Given the description of an element on the screen output the (x, y) to click on. 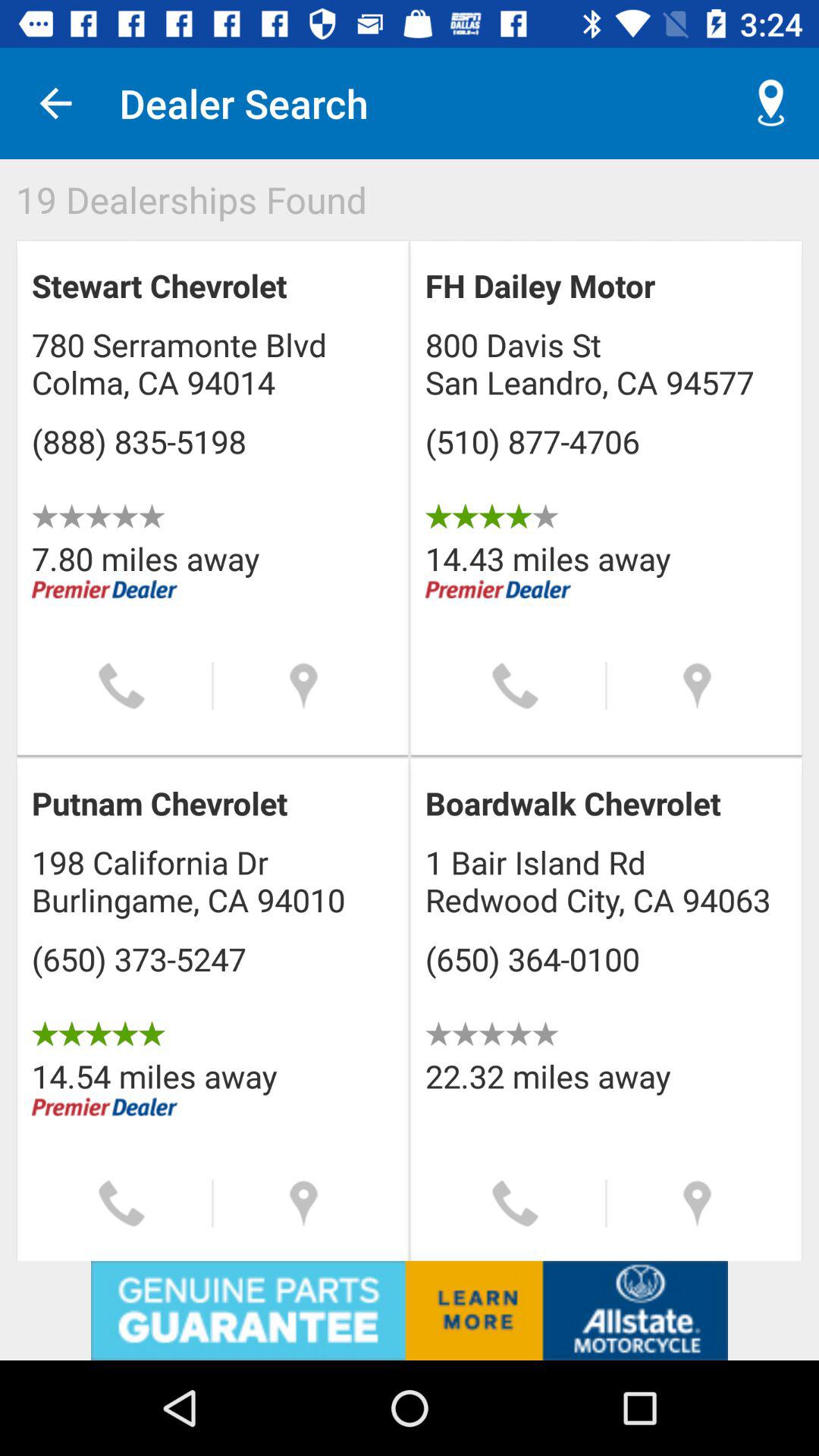
call option (121, 685)
